Given the description of an element on the screen output the (x, y) to click on. 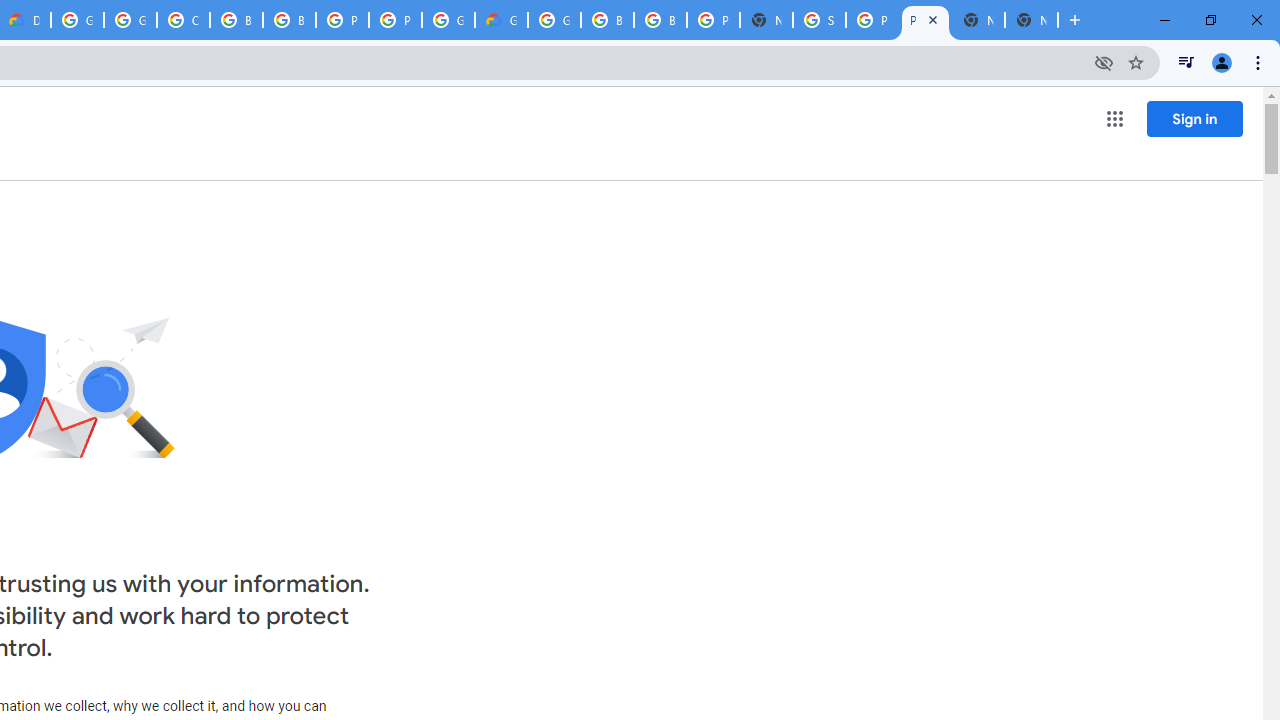
Browse Chrome as a guest - Computer - Google Chrome Help (607, 20)
New Tab (1031, 20)
Google Cloud Estimate Summary (501, 20)
New Tab (766, 20)
Google Cloud Platform (448, 20)
Google Cloud Platform (554, 20)
